Given the description of an element on the screen output the (x, y) to click on. 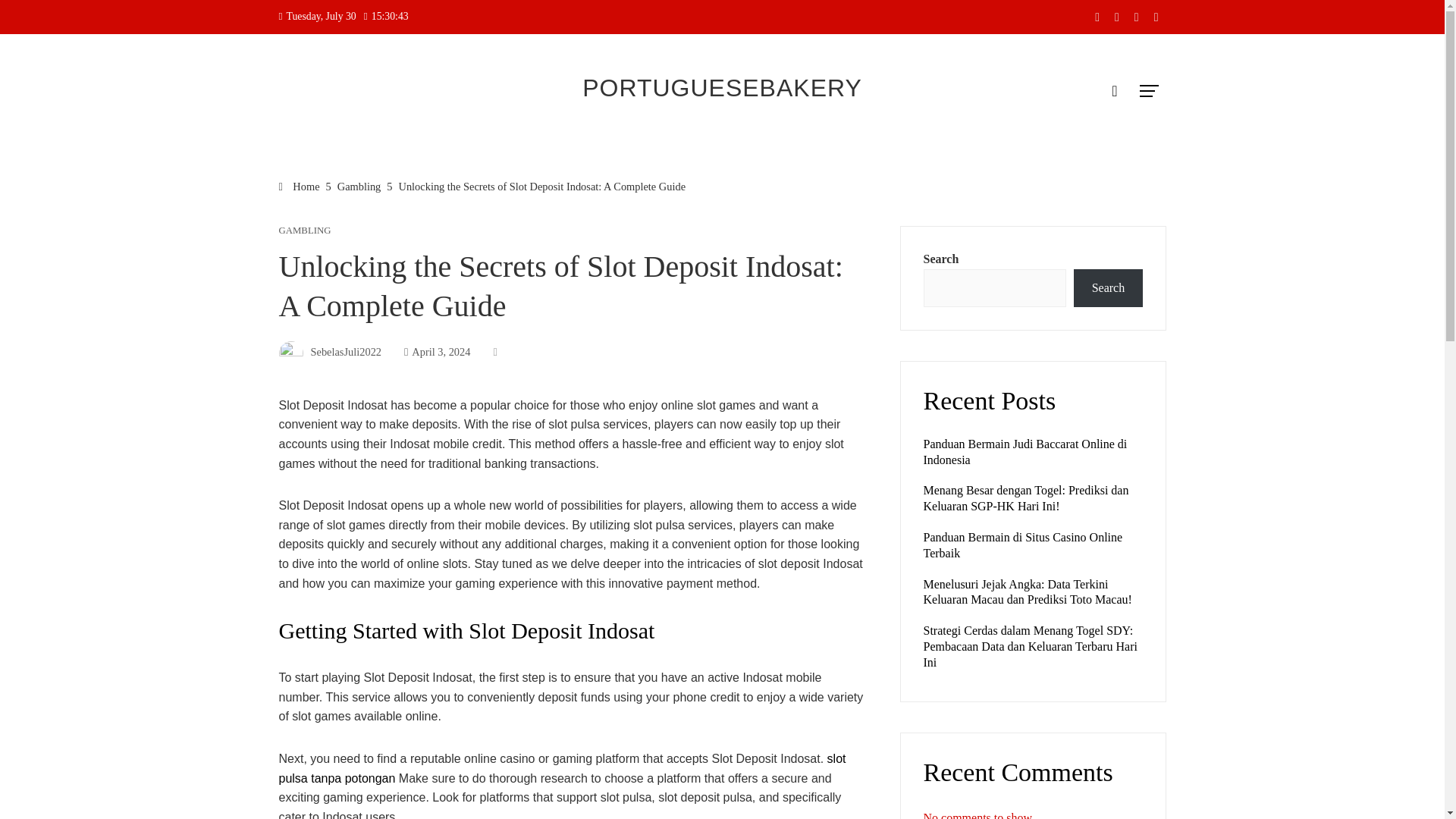
Panduan Bermain di Situs Casino Online Terbaik (1022, 544)
slot pulsa tanpa potongan (562, 768)
Search (1107, 288)
Gambling (359, 186)
GAMBLING (305, 230)
PORTUGUESEBAKERY (721, 87)
Home (299, 186)
Panduan Bermain Judi Baccarat Online di Indonesia (1024, 451)
